Given the description of an element on the screen output the (x, y) to click on. 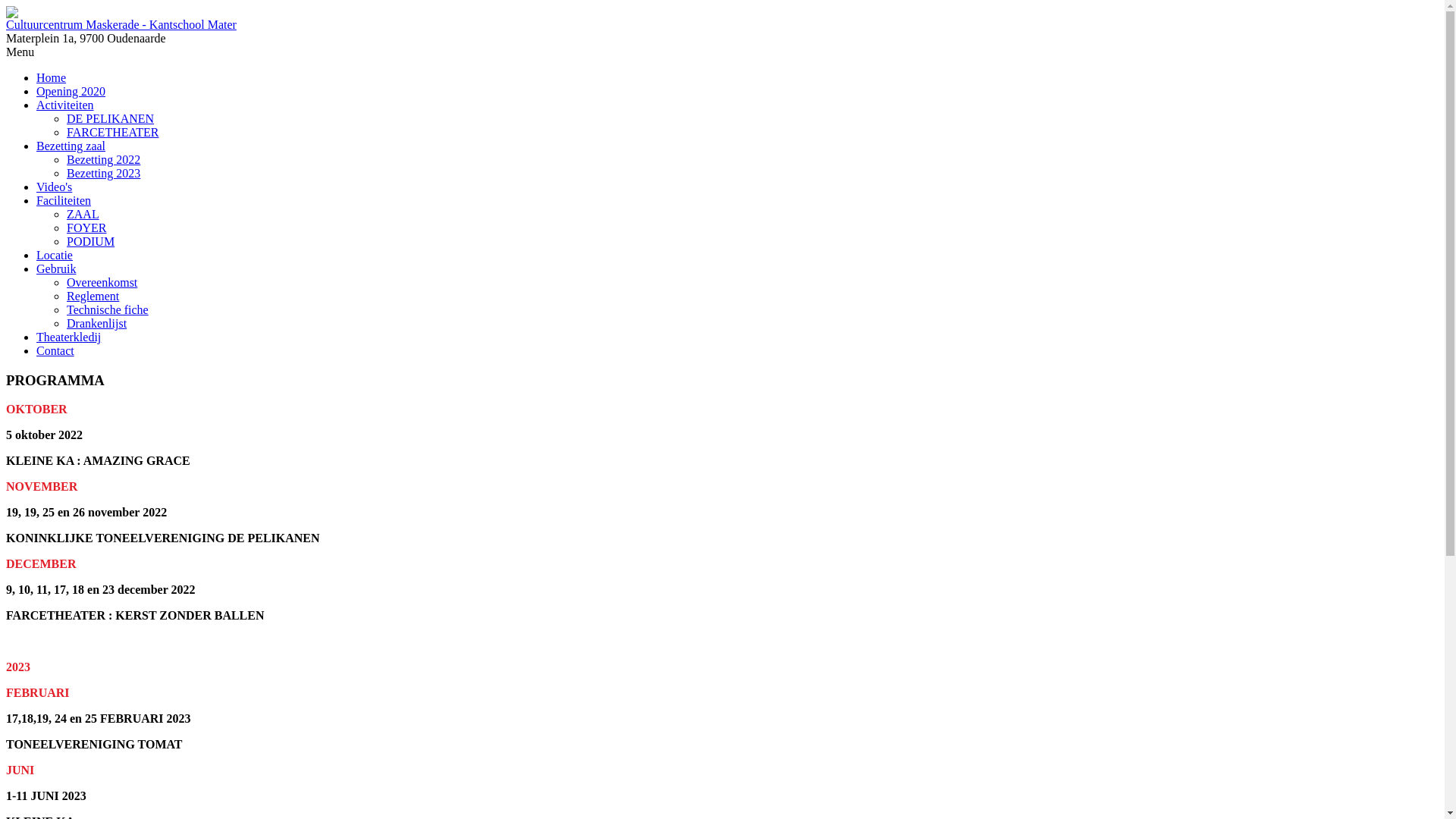
Overeenkomst Element type: text (101, 282)
Reglement Element type: text (92, 295)
FARCETHEATER Element type: text (112, 131)
Bezetting 2023 Element type: text (103, 172)
Bezetting 2022 Element type: text (103, 159)
Home Element type: text (50, 77)
Video's Element type: text (54, 186)
FOYER Element type: text (86, 227)
Drankenlijst Element type: text (96, 322)
Technische fiche Element type: text (107, 309)
Gebruik Element type: text (55, 268)
Menu Element type: text (20, 51)
ZAAL Element type: text (82, 213)
Activiteiten Element type: text (65, 104)
PODIUM Element type: text (90, 241)
Faciliteiten Element type: text (63, 200)
Cultuurcentrum Maskerade - Kantschool Mater Element type: text (121, 24)
Locatie Element type: text (54, 254)
DE PELIKANEN Element type: text (109, 118)
Opening 2020 Element type: text (70, 90)
Theaterkledij Element type: text (68, 336)
Contact Element type: text (55, 350)
Bezetting zaal Element type: text (70, 145)
